Given the description of an element on the screen output the (x, y) to click on. 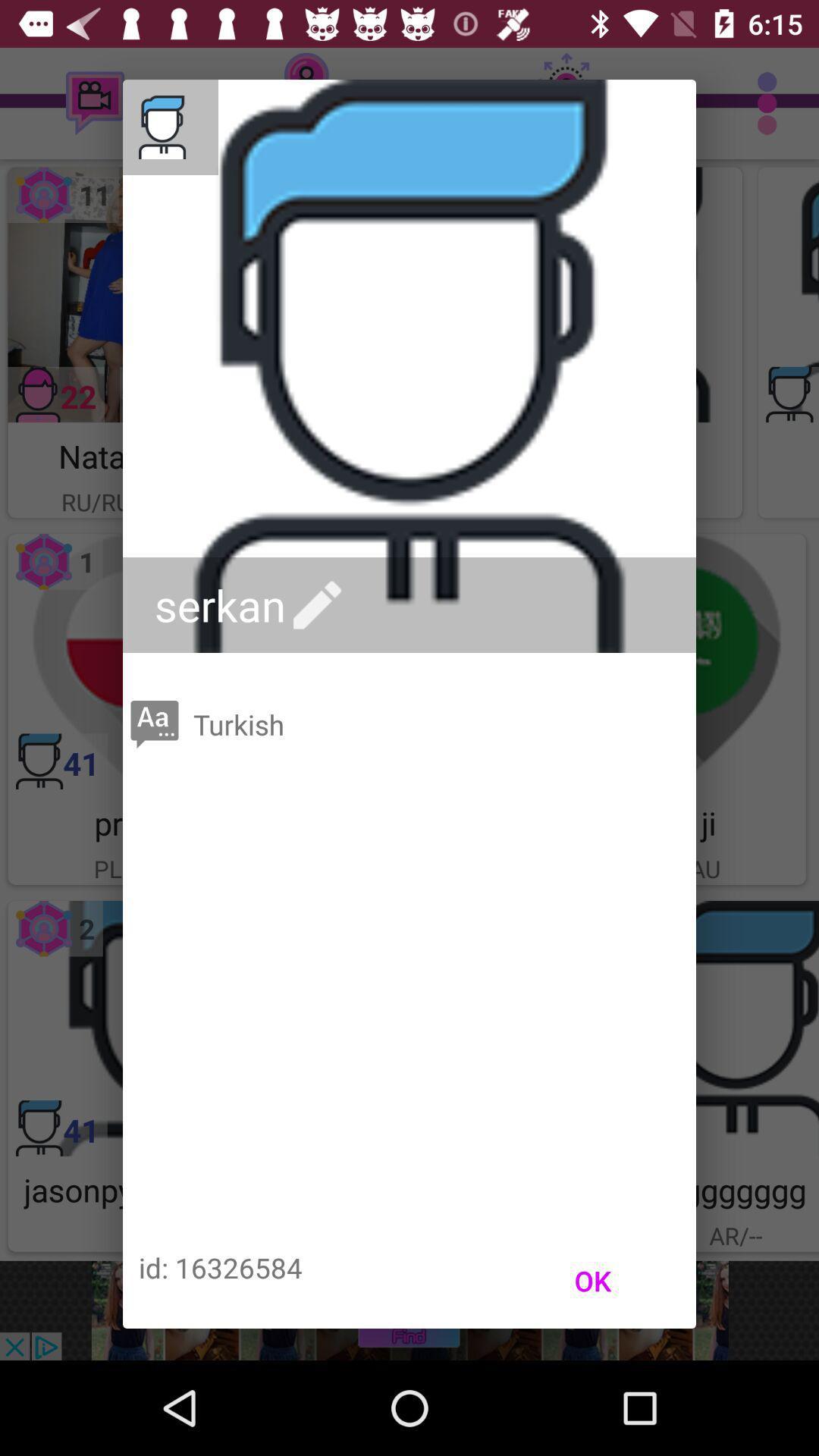
tap item next to the id: 16326584 (592, 1280)
